Given the description of an element on the screen output the (x, y) to click on. 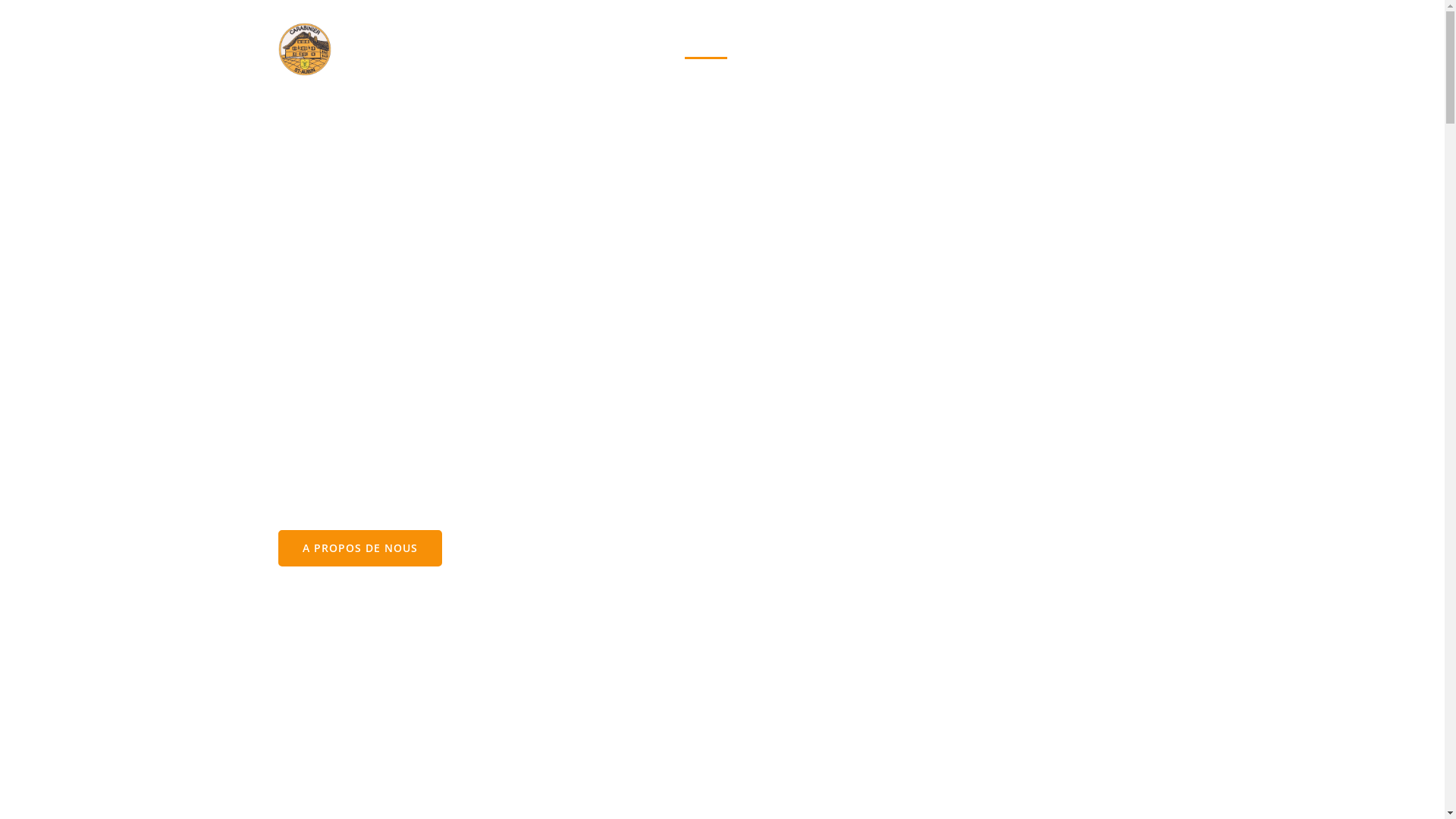
MENU Element type: text (854, 48)
BOISSONS Element type: text (926, 48)
ACCUEIL Element type: text (705, 48)
A PROPOS DE NOUS Element type: text (359, 548)
CONTACT Element type: text (1126, 48)
GALERIE PHOTOS Element type: text (1027, 48)
A PROPOS Element type: text (782, 48)
